Given the description of an element on the screen output the (x, y) to click on. 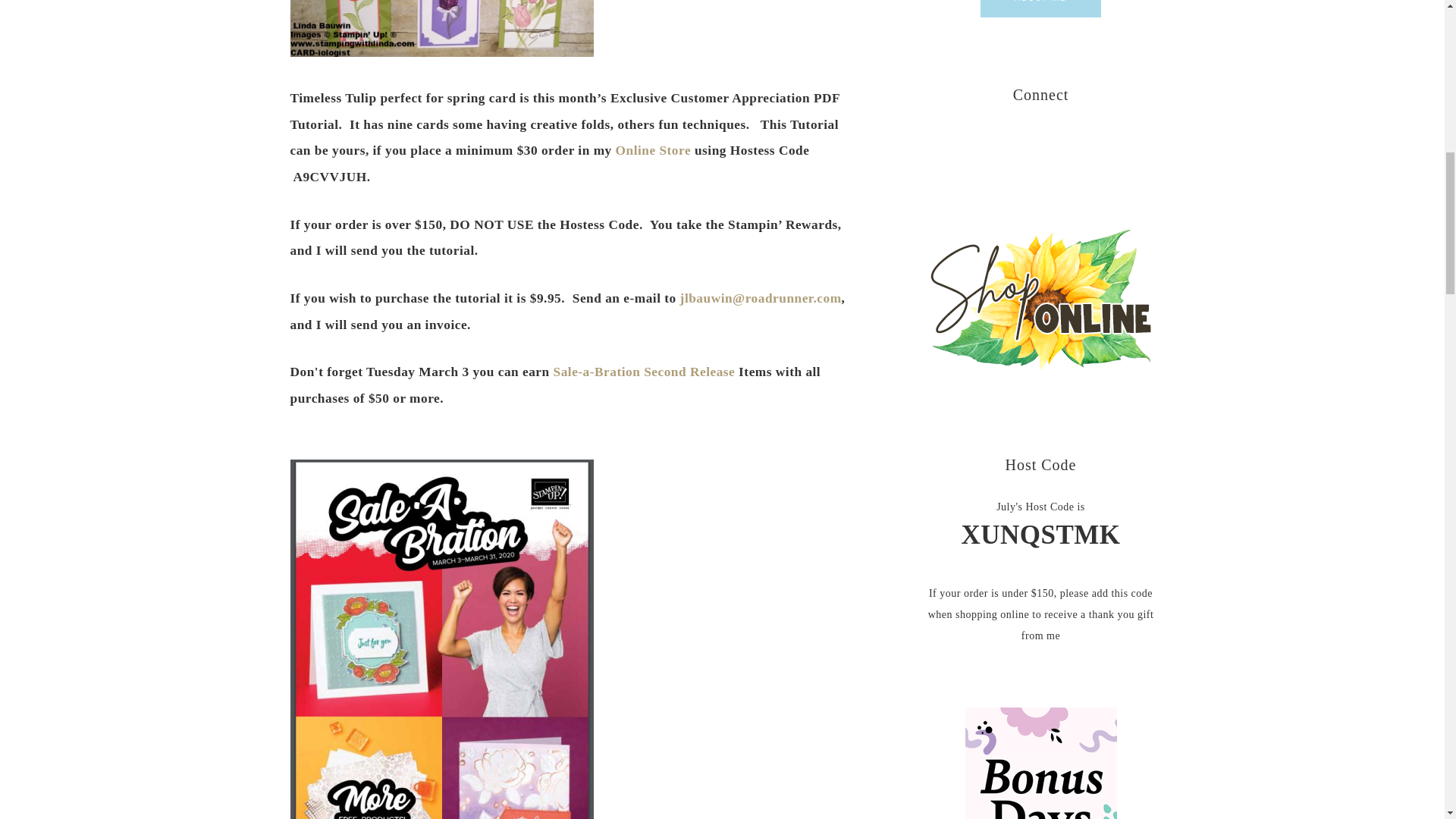
Online Store (653, 150)
Sale-a-Bration Second Release (644, 371)
